Given the description of an element on the screen output the (x, y) to click on. 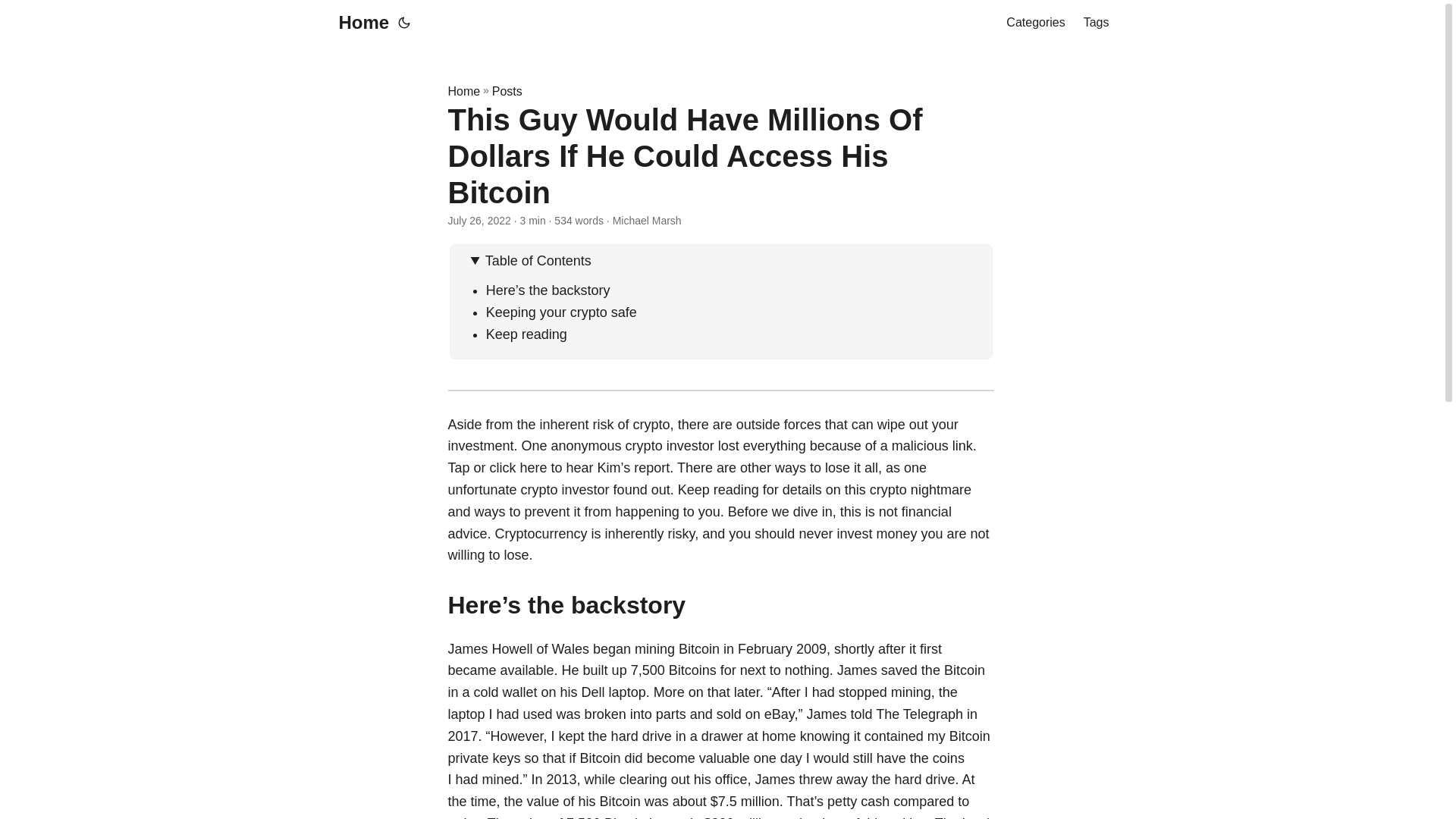
Posts (507, 91)
Categories (1035, 22)
Categories (1035, 22)
Tags (1096, 22)
Keep reading (526, 334)
Home (359, 22)
Keeping your crypto safe (561, 312)
Tags (1096, 22)
Home (463, 91)
